Given the description of an element on the screen output the (x, y) to click on. 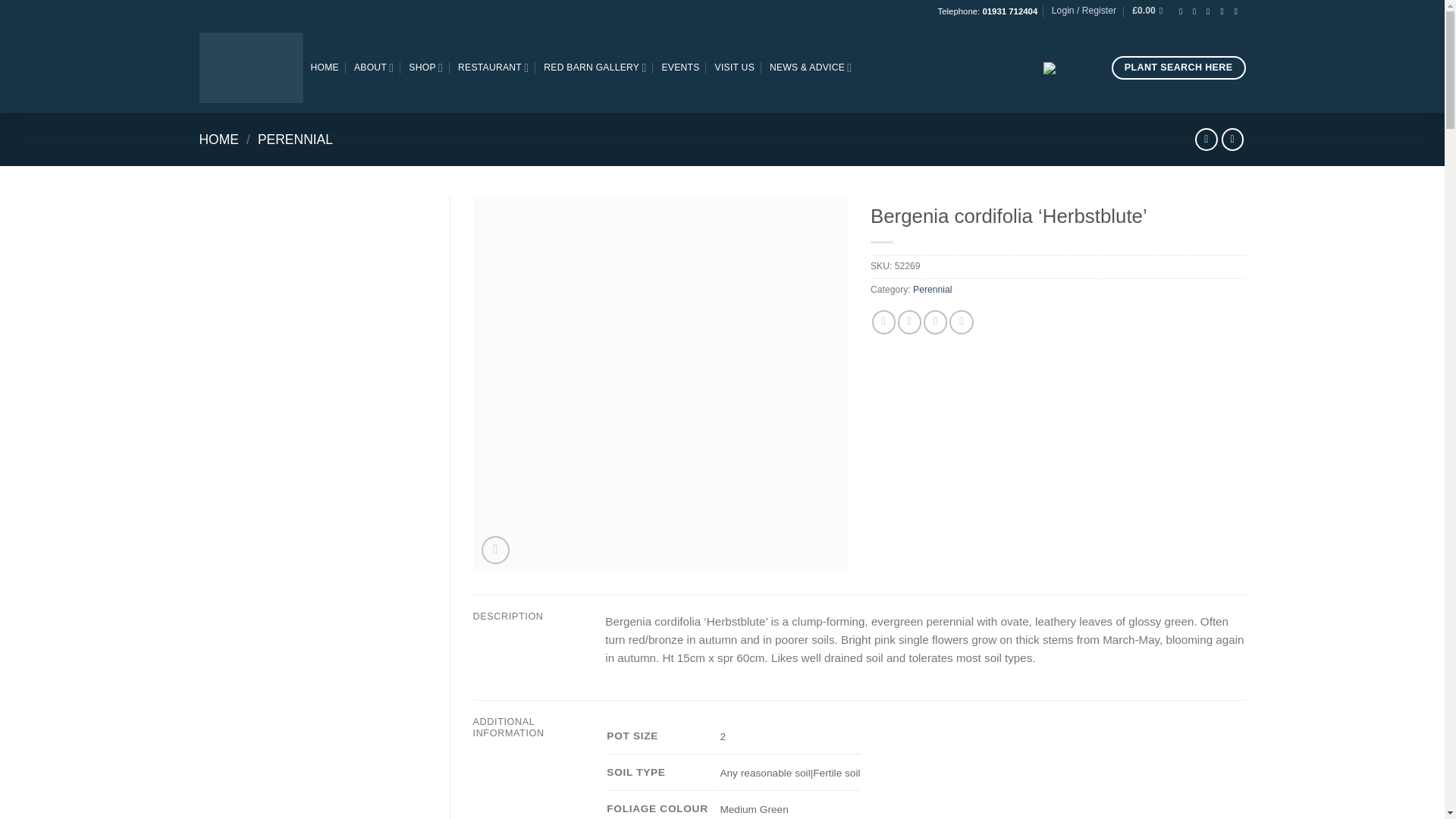
Follow on Instagram (1196, 10)
HOME (325, 67)
ABOUT (373, 67)
Pin on Pinterest (960, 321)
Email to a Friend (935, 321)
RESTAURANT (493, 67)
Share on Twitter (909, 321)
Send us an email (1224, 10)
SHOP (425, 67)
Larch Cottage Nurseries - Larch Cottage Nurseries (250, 67)
